Given the description of an element on the screen output the (x, y) to click on. 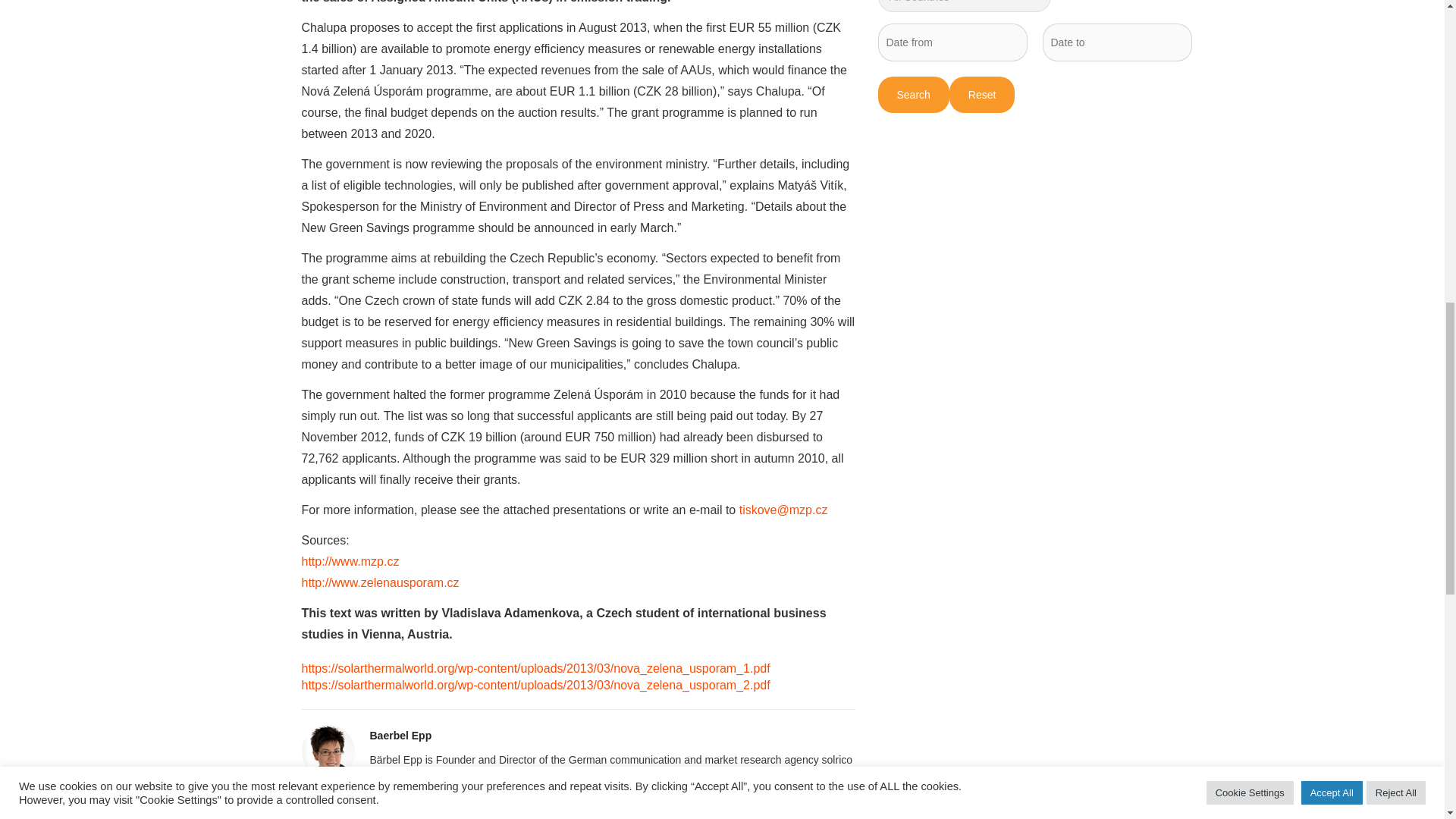
Search (913, 94)
Reset (981, 94)
Reset (981, 94)
